Given the description of an element on the screen output the (x, y) to click on. 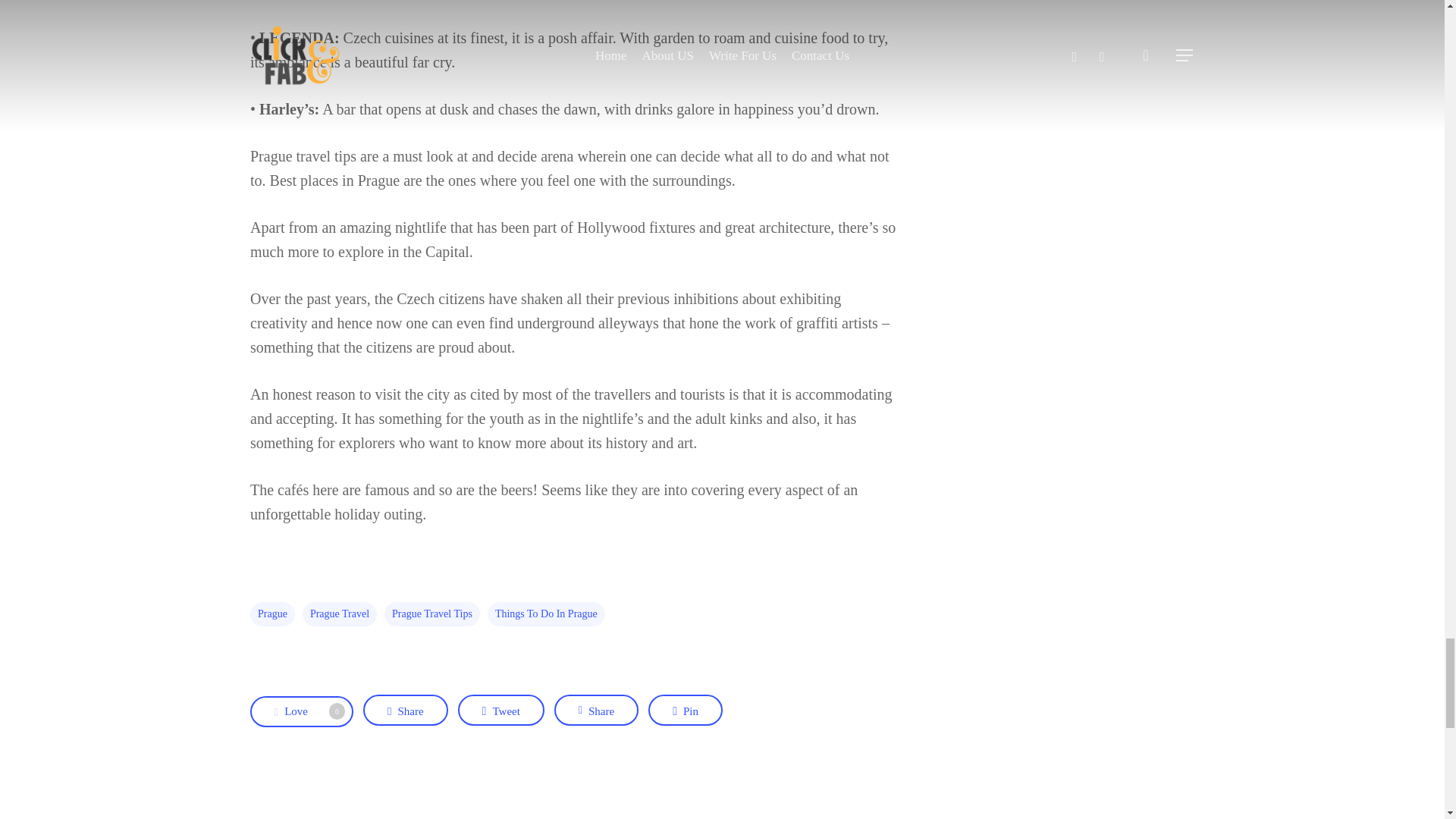
Share this (405, 709)
Prague (272, 613)
Share (405, 709)
Tweet this (501, 709)
Share (301, 711)
Things To Do In Prague (596, 709)
Prague Travel Tips (546, 613)
Pin (432, 613)
Tweet (684, 709)
Love this (501, 709)
Share this (301, 711)
Pin this (596, 709)
Prague Travel (684, 709)
